Given the description of an element on the screen output the (x, y) to click on. 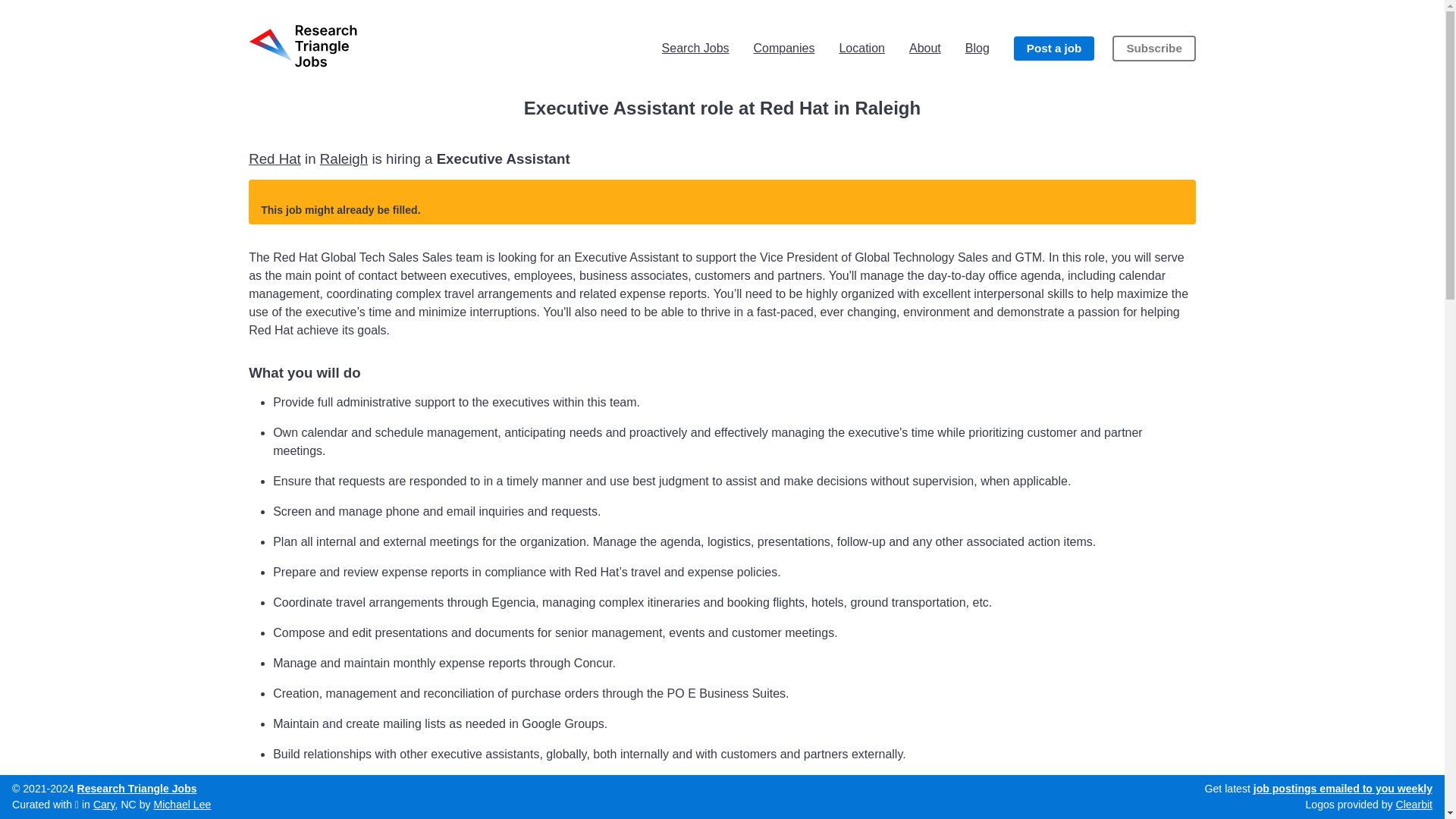
Clearbit (1413, 804)
Raleigh (344, 158)
About (924, 48)
Cary (104, 804)
Search Jobs (695, 48)
Location (861, 48)
Subscribe (1153, 49)
Blog (977, 48)
Companies (784, 48)
Research Triangle Jobs (136, 788)
job postings emailed to you weekly (1342, 788)
Post a job (1053, 48)
Michael Lee (181, 804)
Red Hat (274, 158)
